Given the description of an element on the screen output the (x, y) to click on. 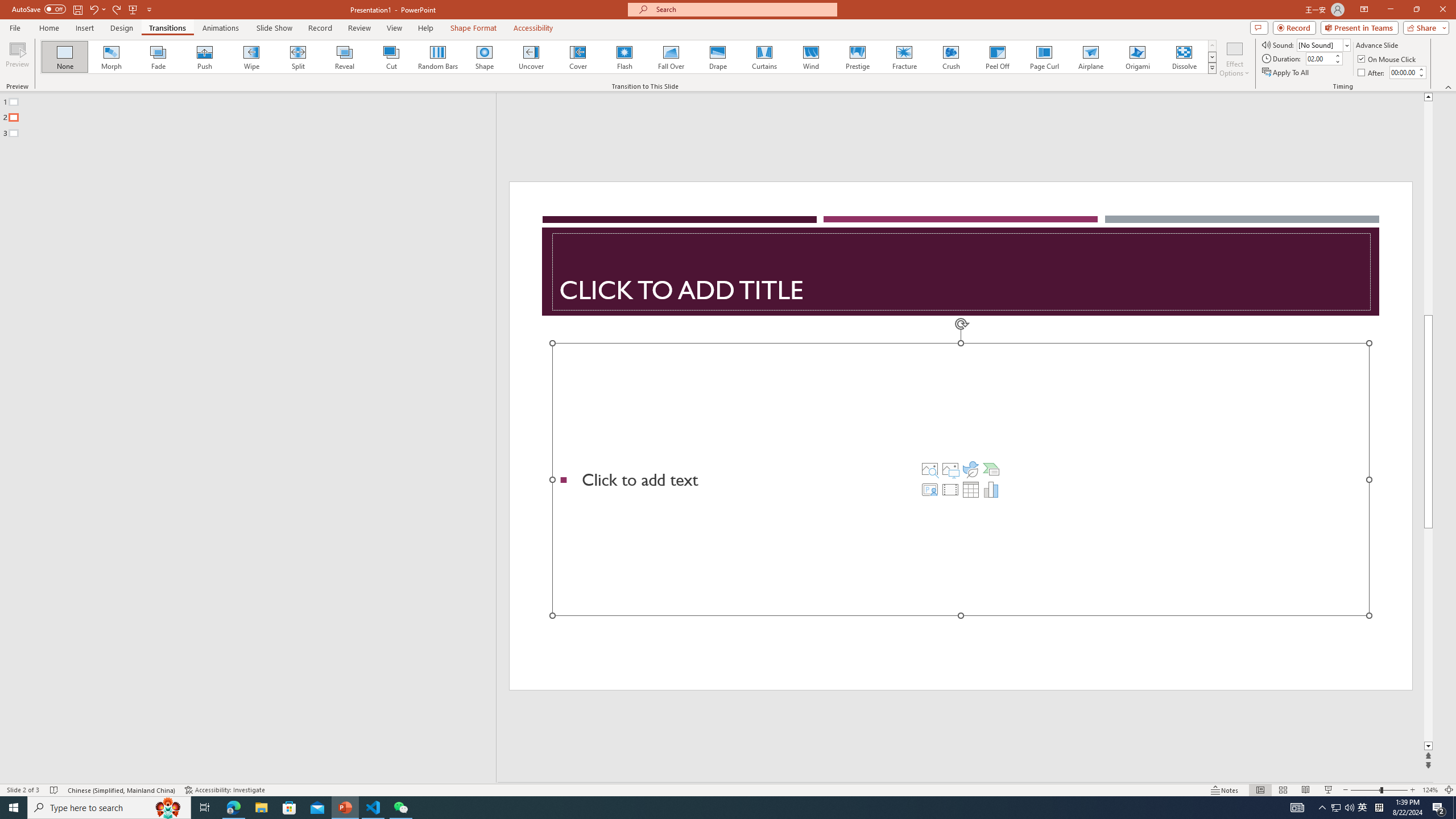
Uncover (531, 56)
On Mouse Click (1387, 58)
Zoom 124% (1430, 790)
